Given the description of an element on the screen output the (x, y) to click on. 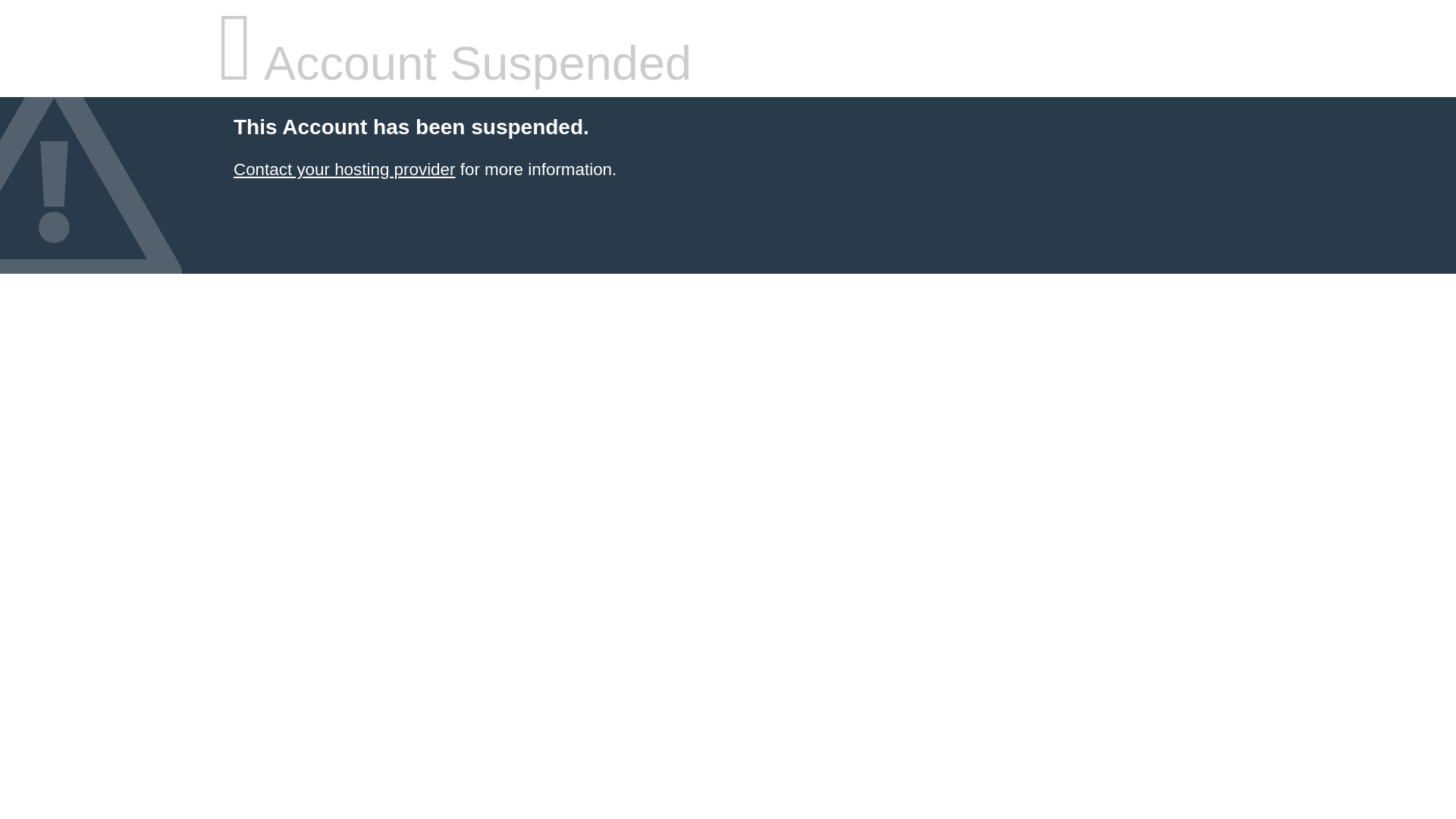
Contact your hosting provider Element type: text (344, 169)
